Given the description of an element on the screen output the (x, y) to click on. 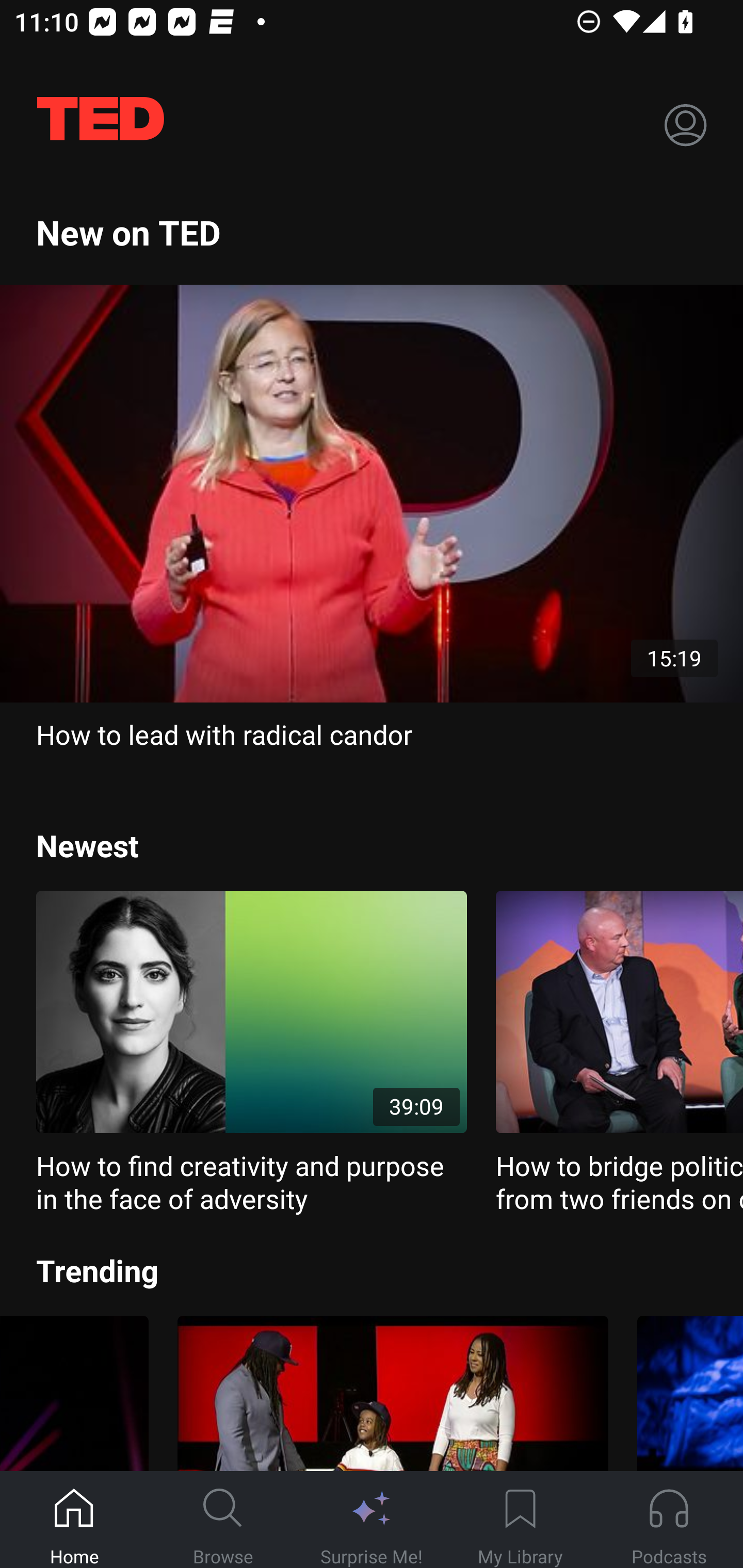
Home (74, 1520)
Browse (222, 1520)
Surprise Me! (371, 1520)
My Library (519, 1520)
Podcasts (668, 1520)
